Given the description of an element on the screen output the (x, y) to click on. 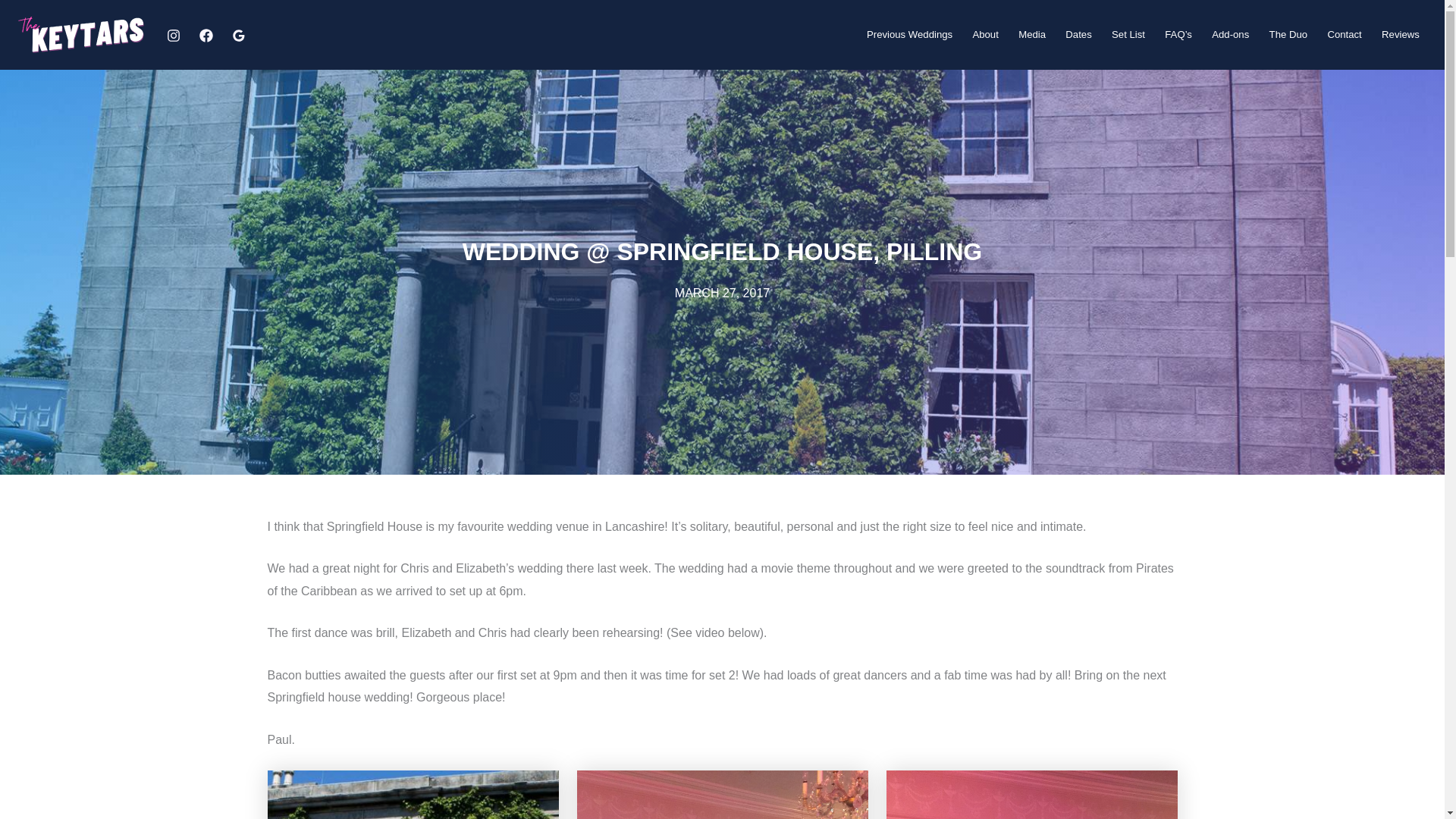
The Duo (1288, 34)
Dates (1078, 34)
Media (1032, 34)
Previous Weddings (909, 34)
Reviews (1400, 34)
Contact (1344, 34)
About (985, 34)
Add-ons (1230, 34)
Set List (1128, 34)
